Given the description of an element on the screen output the (x, y) to click on. 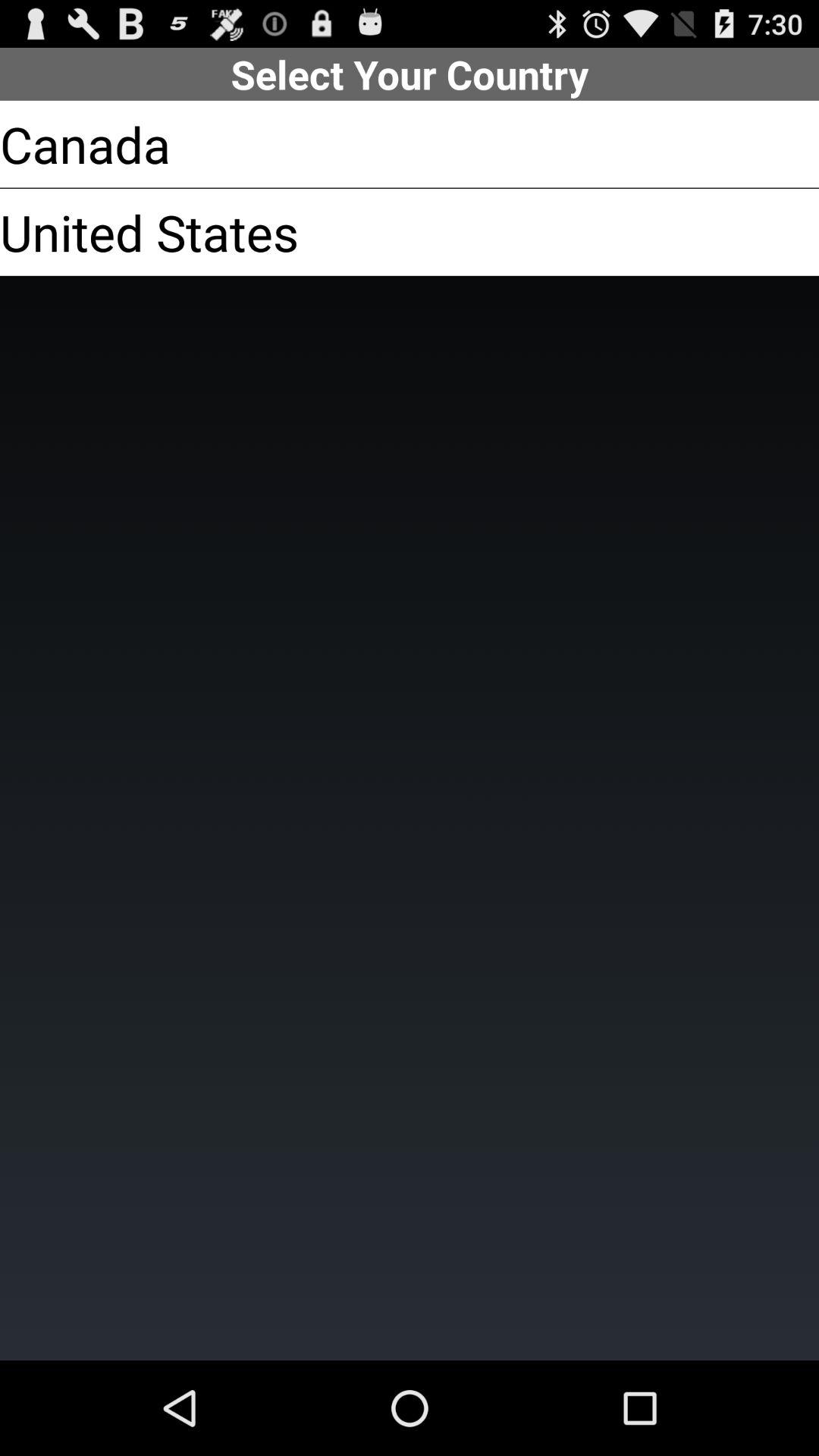
jump to the united states app (149, 232)
